Given the description of an element on the screen output the (x, y) to click on. 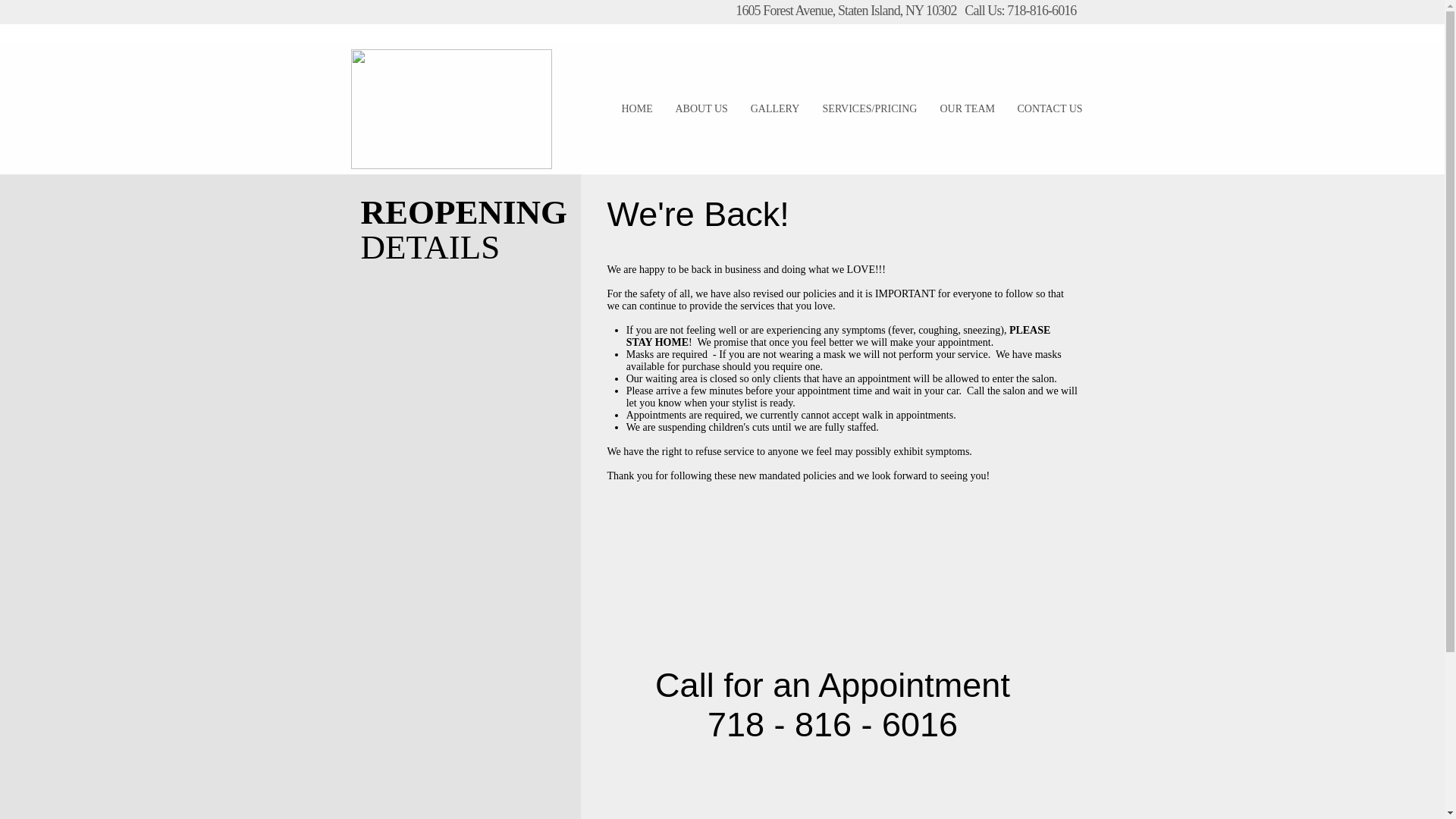
HOME (636, 108)
elanlogotranpng.png (450, 108)
CONTACT US (1049, 108)
OUR TEAM (967, 108)
ABOUT US (701, 108)
GALLERY (774, 108)
718-816-6016 (1041, 10)
